Given the description of an element on the screen output the (x, y) to click on. 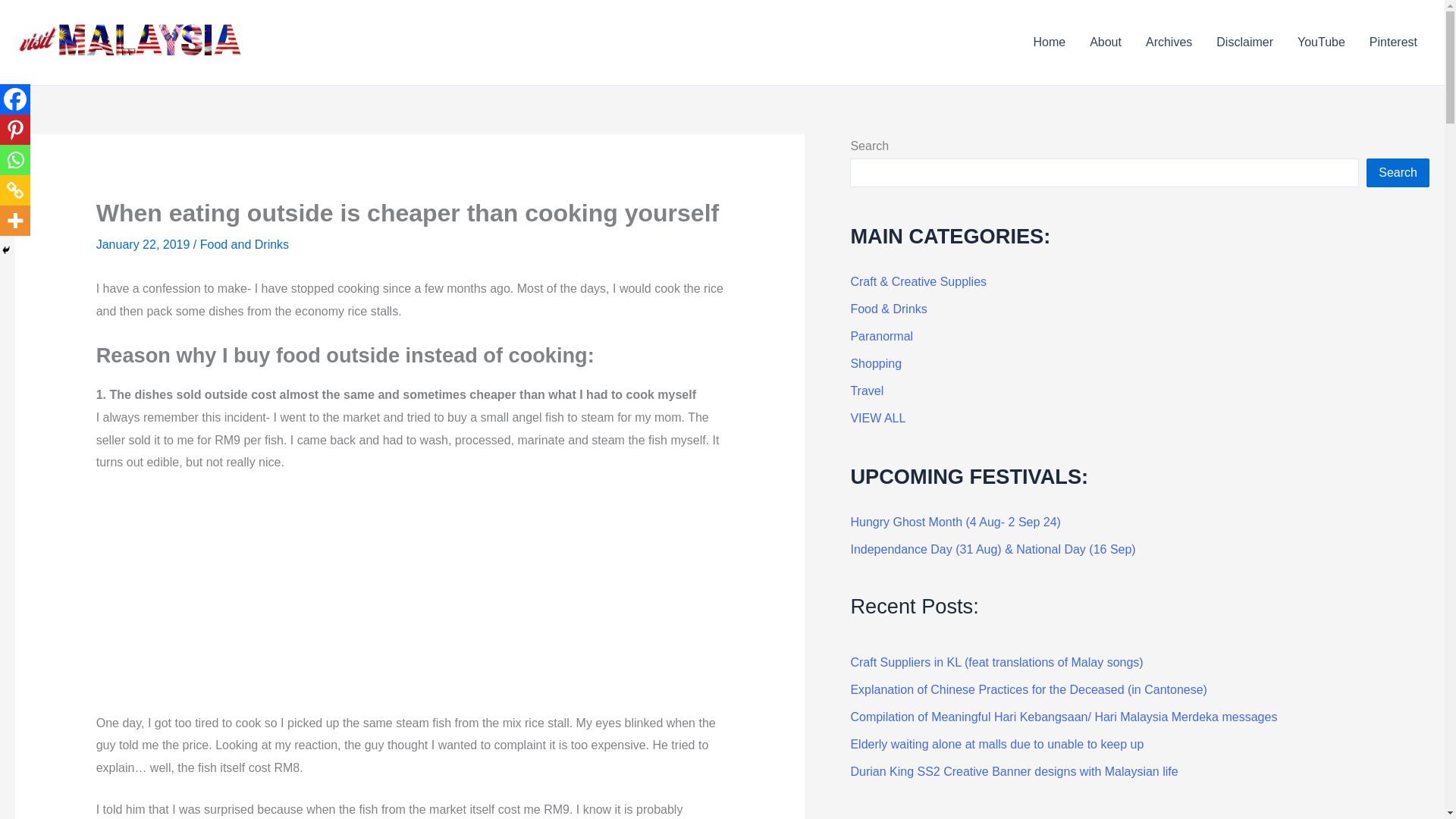
Disclaimer (1244, 42)
Pinterest (15, 129)
Home (1048, 42)
Copy Link (15, 190)
YouTube (1320, 42)
Archives (1169, 42)
Facebook (15, 99)
Food and Drinks (244, 244)
Pinterest (1392, 42)
Hide (5, 250)
More (15, 220)
Whatsapp (15, 159)
Advertisement (409, 599)
About (1105, 42)
